Given the description of an element on the screen output the (x, y) to click on. 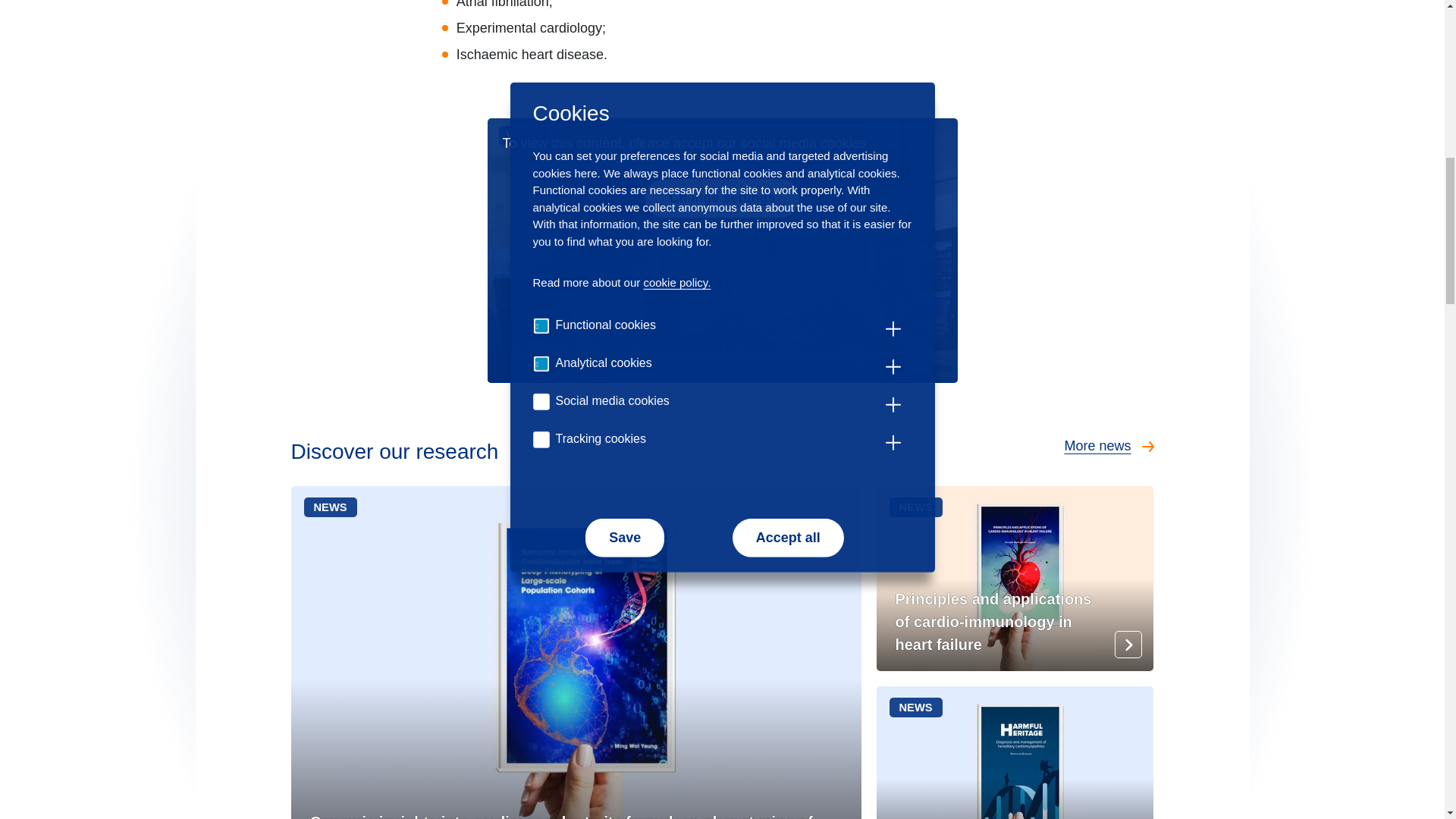
More news (1015, 752)
Change settings (1108, 460)
